Given the description of an element on the screen output the (x, y) to click on. 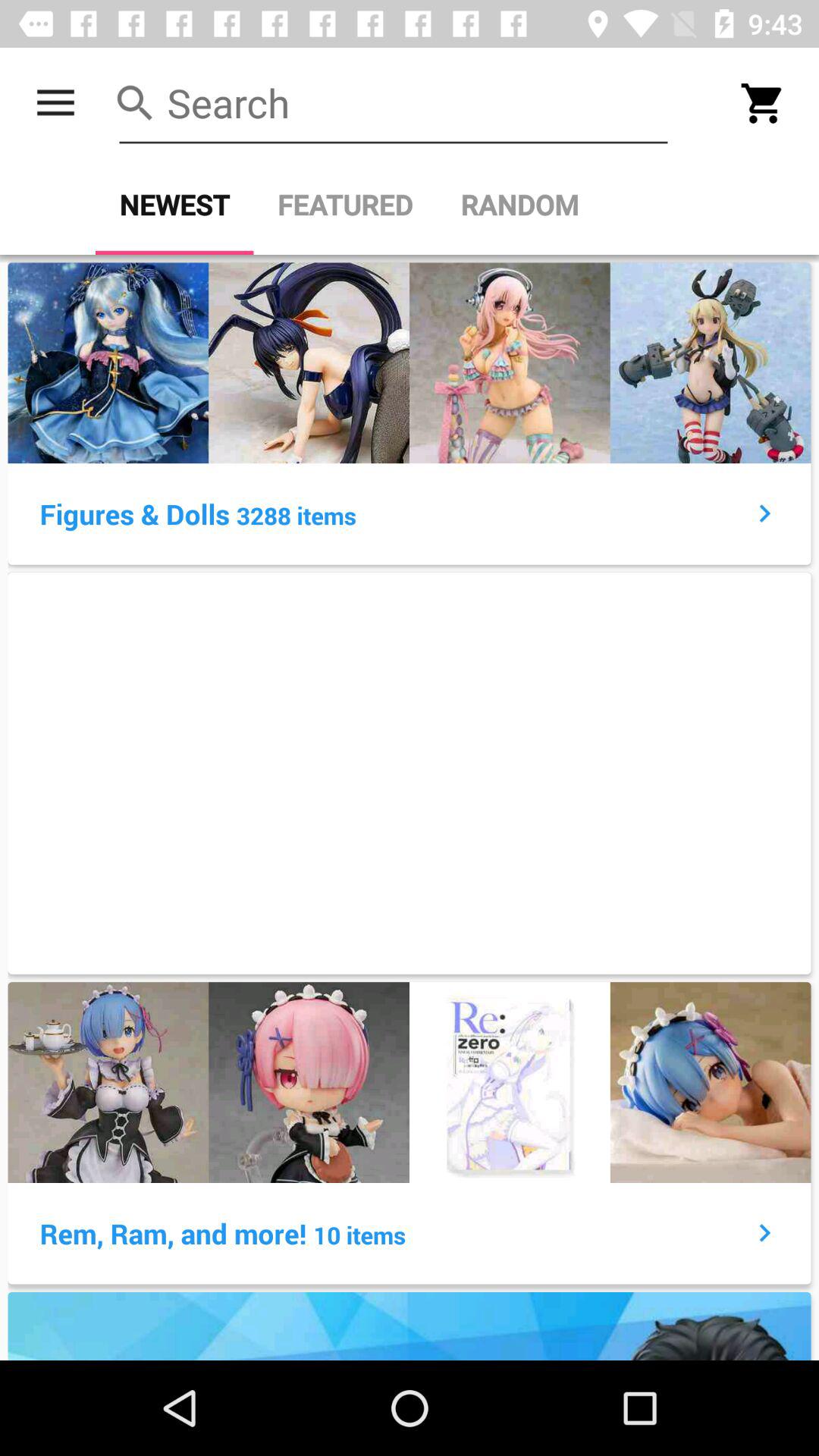
open icon to the left of the featured item (174, 204)
